Given the description of an element on the screen output the (x, y) to click on. 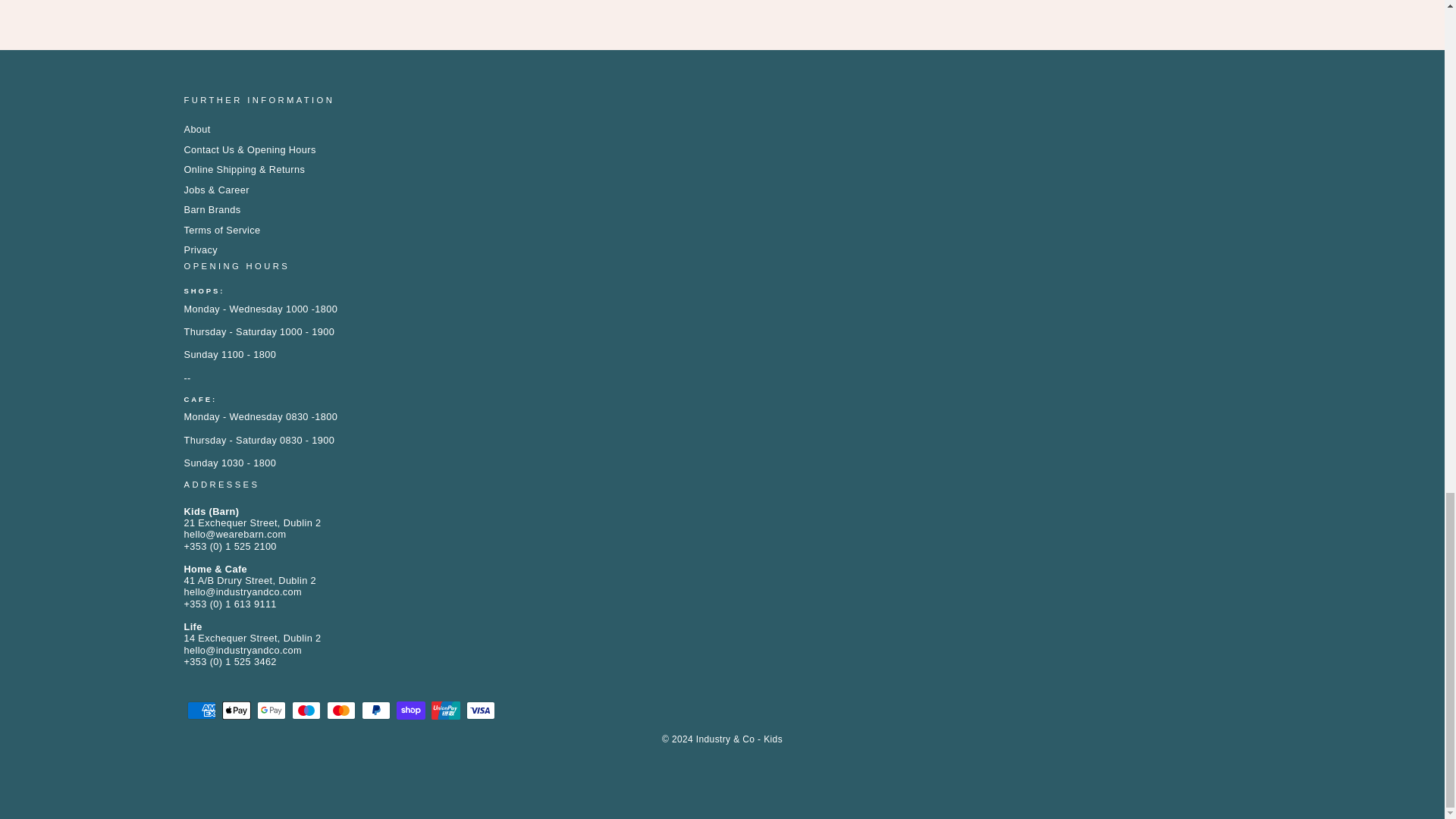
Apple Pay (235, 710)
PayPal (375, 710)
Visa (480, 710)
American Express (200, 710)
Maestro (305, 710)
Shop Pay (410, 710)
Mastercard (340, 710)
Google Pay (270, 710)
Union Pay (445, 710)
